Given the description of an element on the screen output the (x, y) to click on. 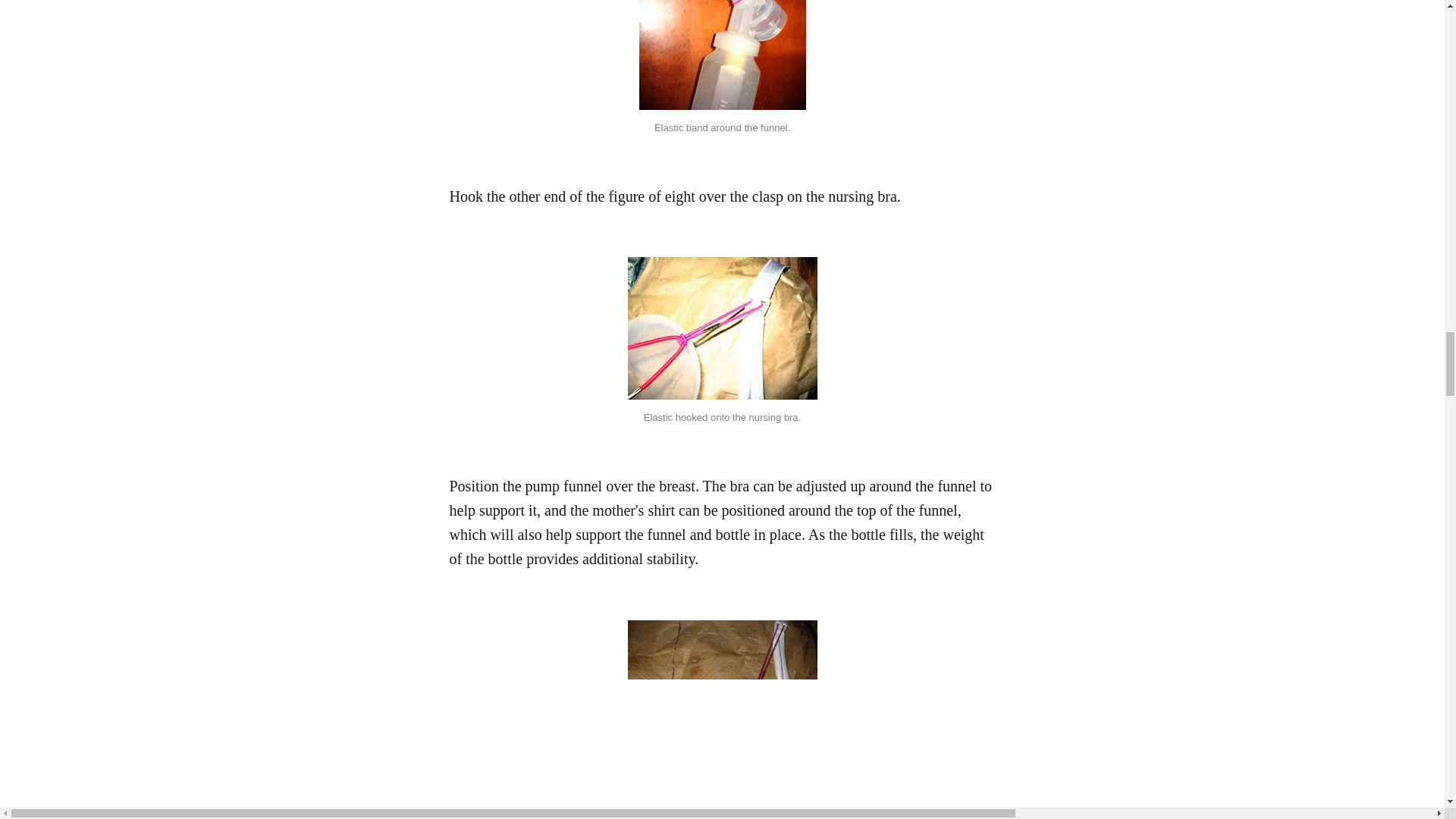
how to make pumping bras (721, 609)
breast pumpping bra (721, 65)
how to make a pumping bra (722, 389)
making a pumping bra (721, 808)
